Given the description of an element on the screen output the (x, y) to click on. 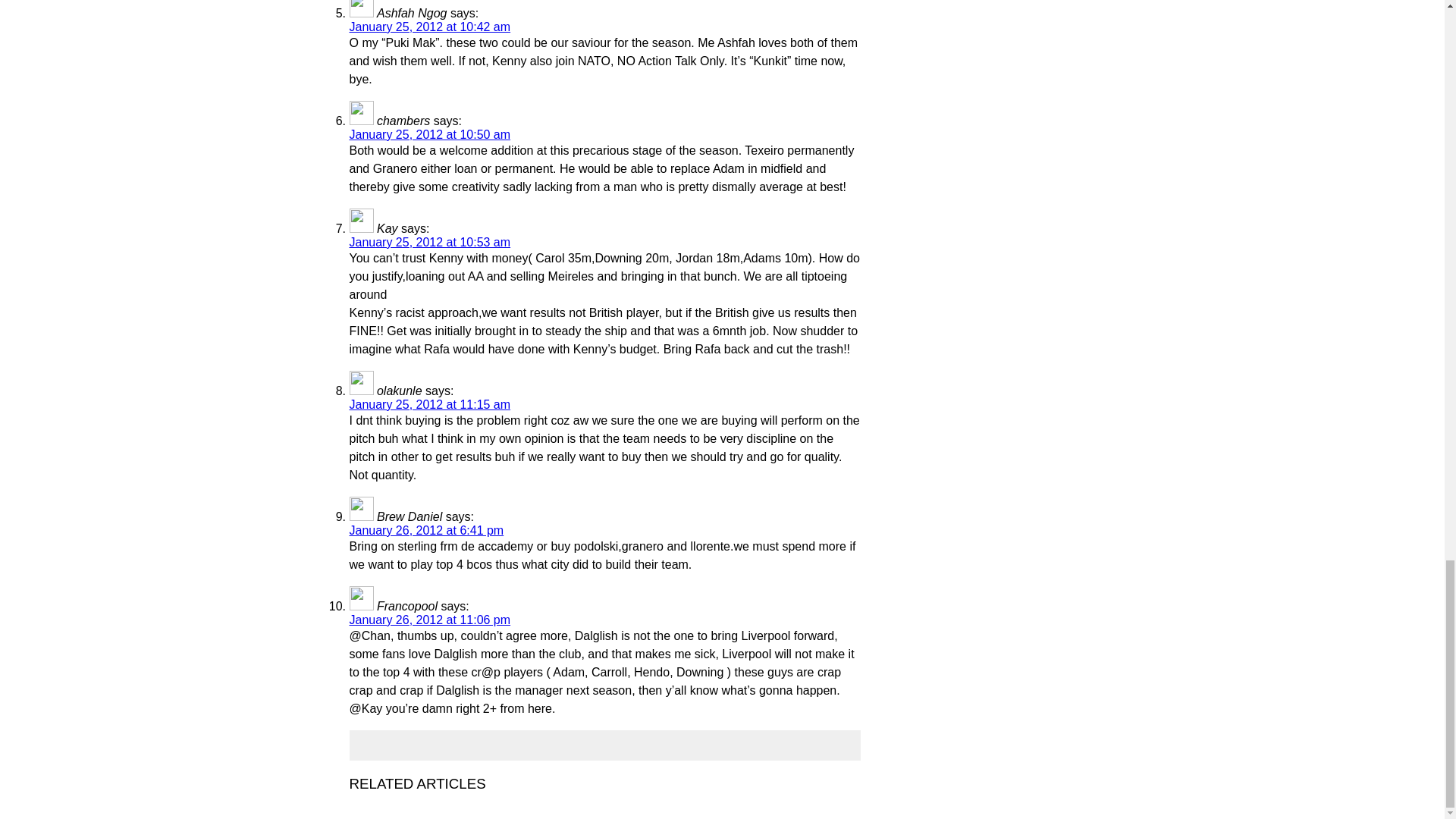
January 25, 2012 at 10:42 am (430, 26)
January 26, 2012 at 11:06 pm (430, 619)
January 25, 2012 at 11:15 am (430, 404)
January 25, 2012 at 10:53 am (430, 241)
January 26, 2012 at 6:41 pm (426, 530)
January 25, 2012 at 10:50 am (430, 133)
